Given the description of an element on the screen output the (x, y) to click on. 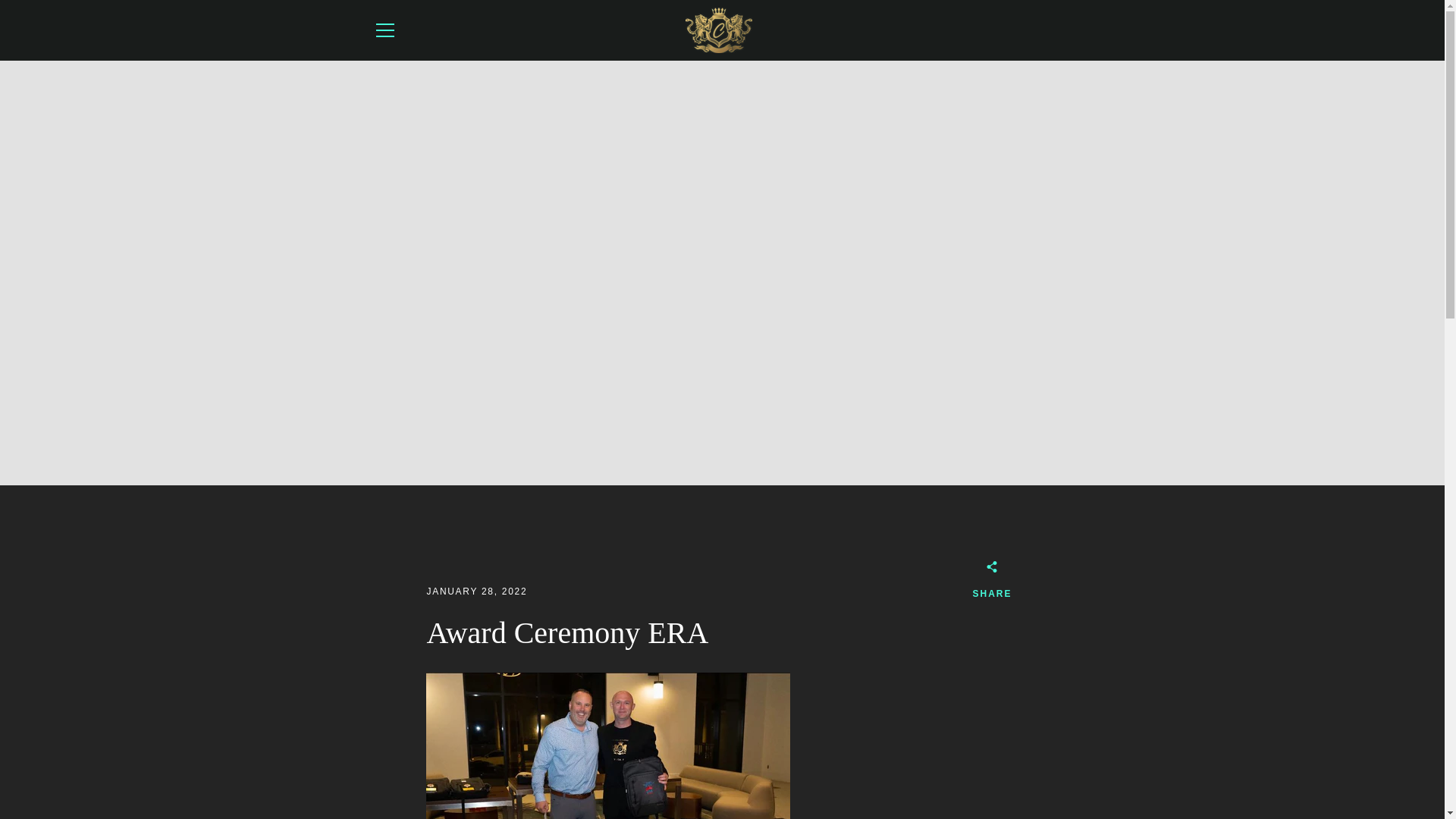
MENU (384, 30)
SHARE (991, 582)
